Given the description of an element on the screen output the (x, y) to click on. 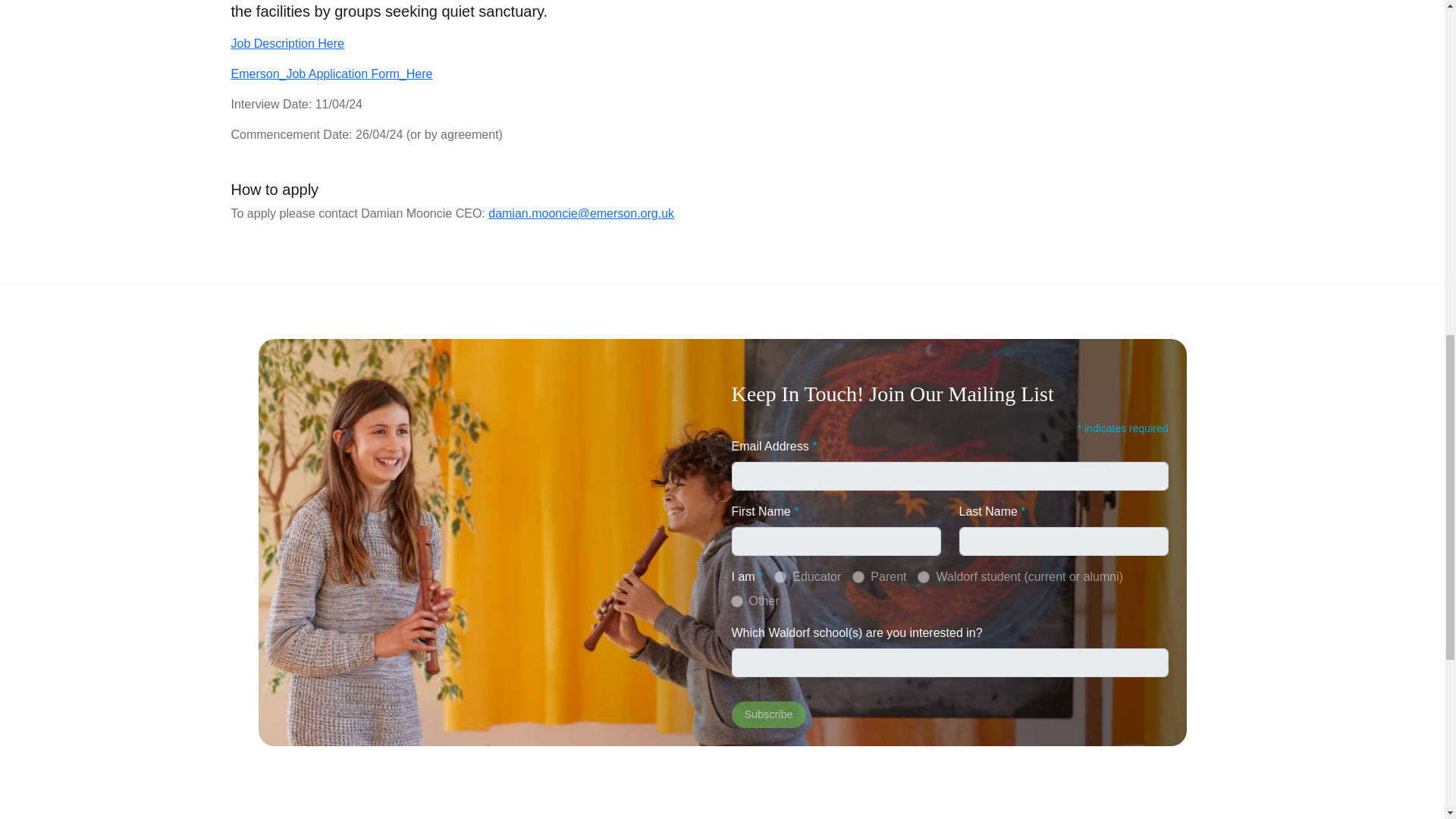
Other (736, 601)
Subscribe (767, 714)
Parent (857, 576)
Waldorf student (923, 576)
Educator (780, 576)
